Given the description of an element on the screen output the (x, y) to click on. 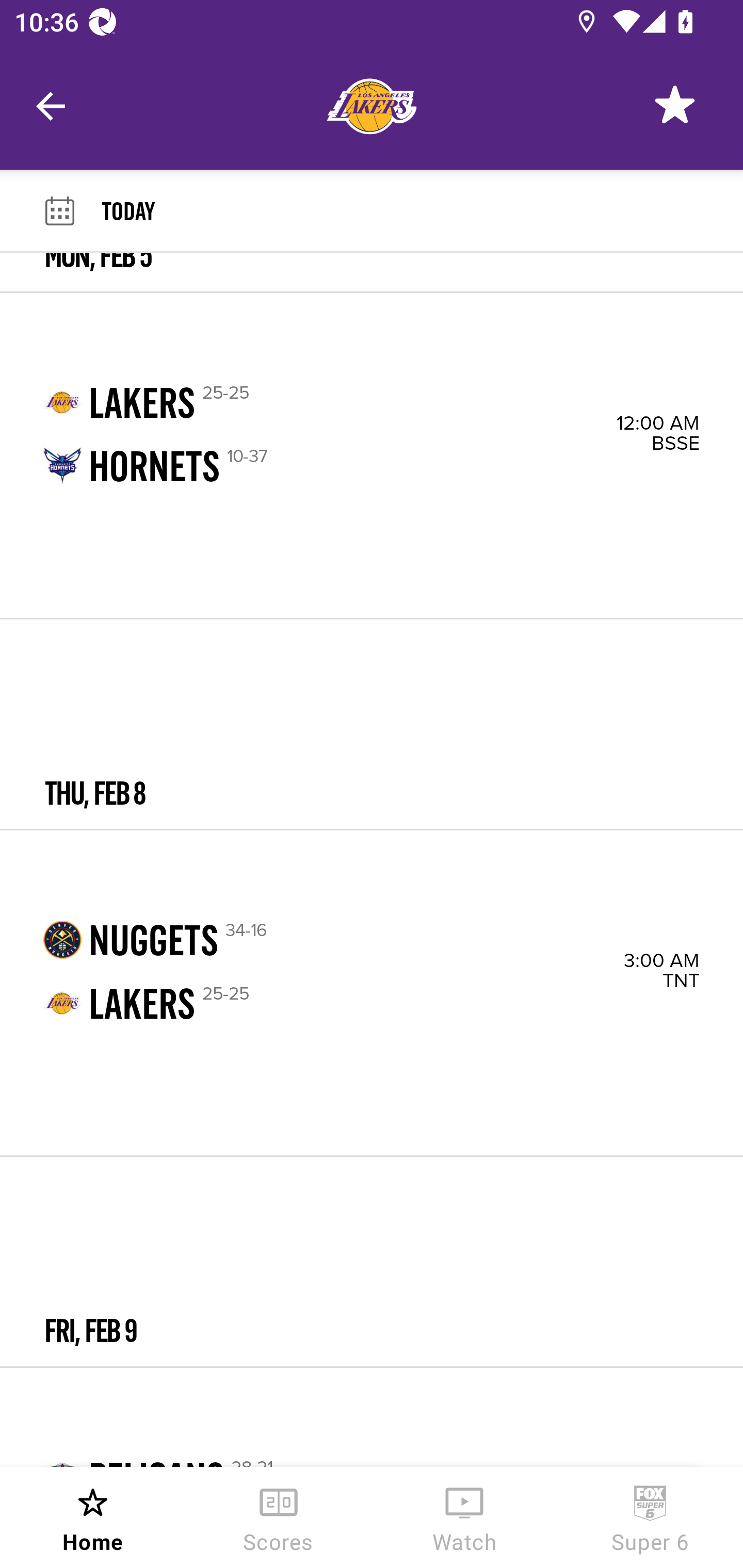
Navigate up (50, 106)
TODAY (422, 210)
LAKERS 25-25 12:00 AM HORNETS 10-37 BSSE (371, 455)
THU, FEB 8 (371, 724)
NUGGETS 34-16 3:00 AM LAKERS 25-25 TNT (371, 993)
FRI, FEB 9 (371, 1261)
Scores (278, 1517)
Watch (464, 1517)
Super 6 (650, 1517)
